Given the description of an element on the screen output the (x, y) to click on. 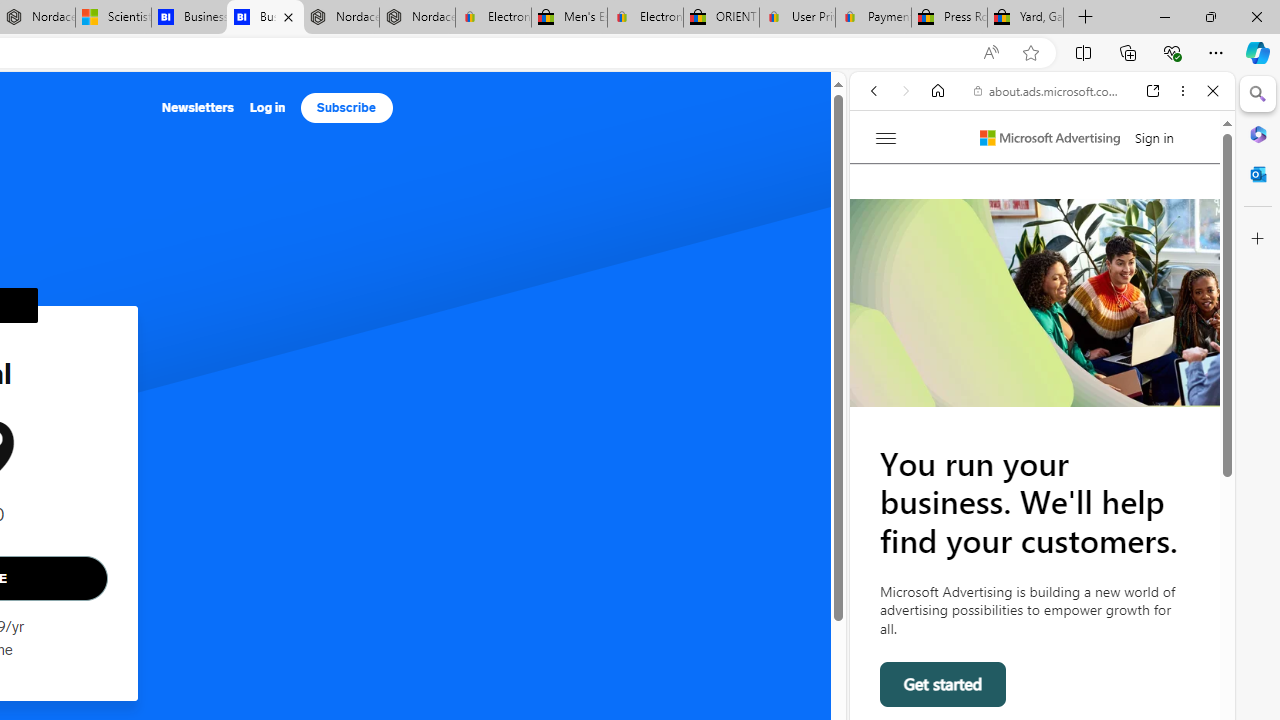
Get started (943, 683)
Microsoft Advertising (1050, 137)
about.ads.microsoft.com (1045, 90)
Subscribe (345, 107)
